Given the description of an element on the screen output the (x, y) to click on. 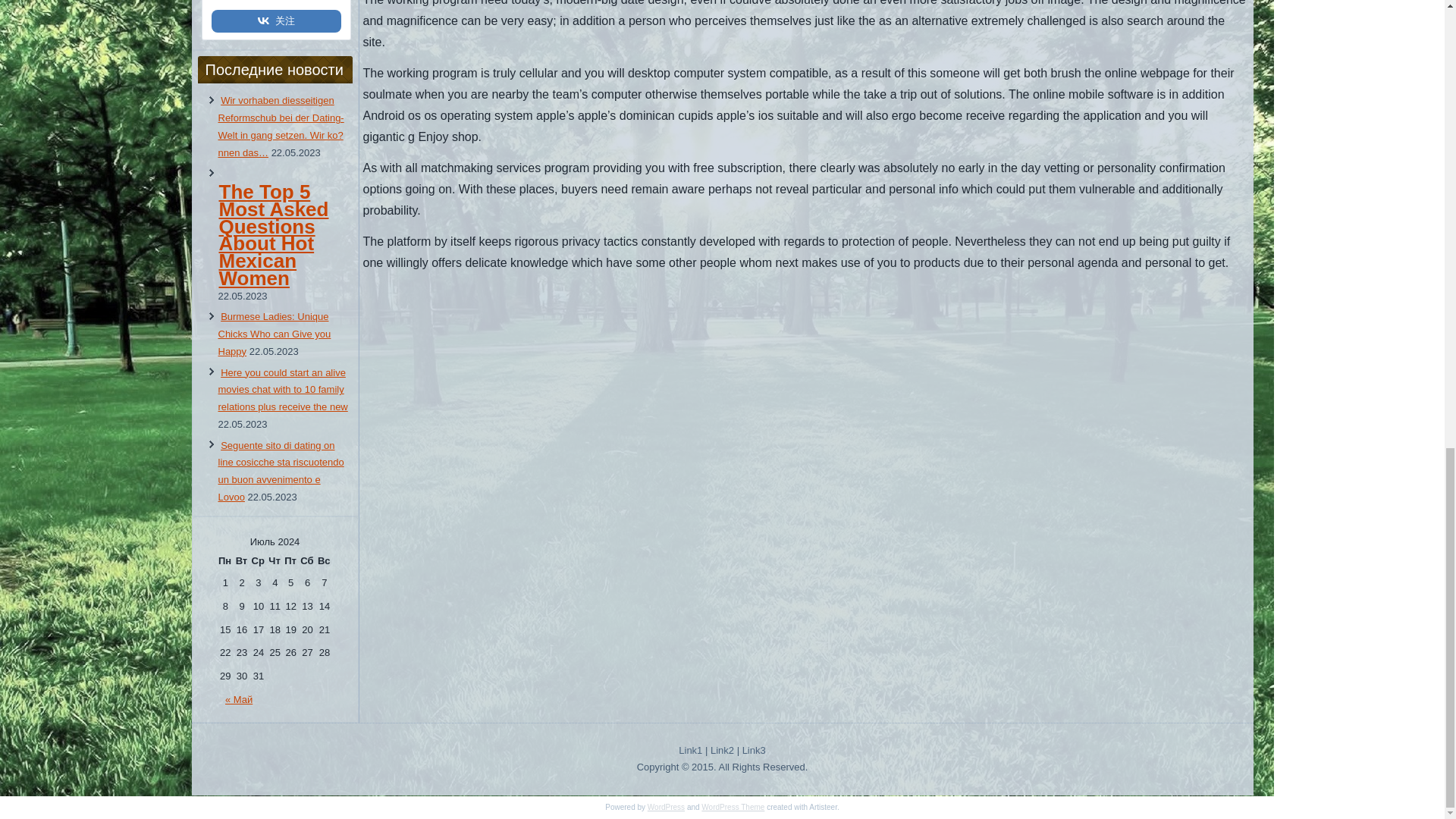
The Top 5 Most Asked Questions About Hot Mexican Women (283, 249)
Burmese Ladies: Unique Chicks Who can Give you Happy (274, 334)
